Given the description of an element on the screen output the (x, y) to click on. 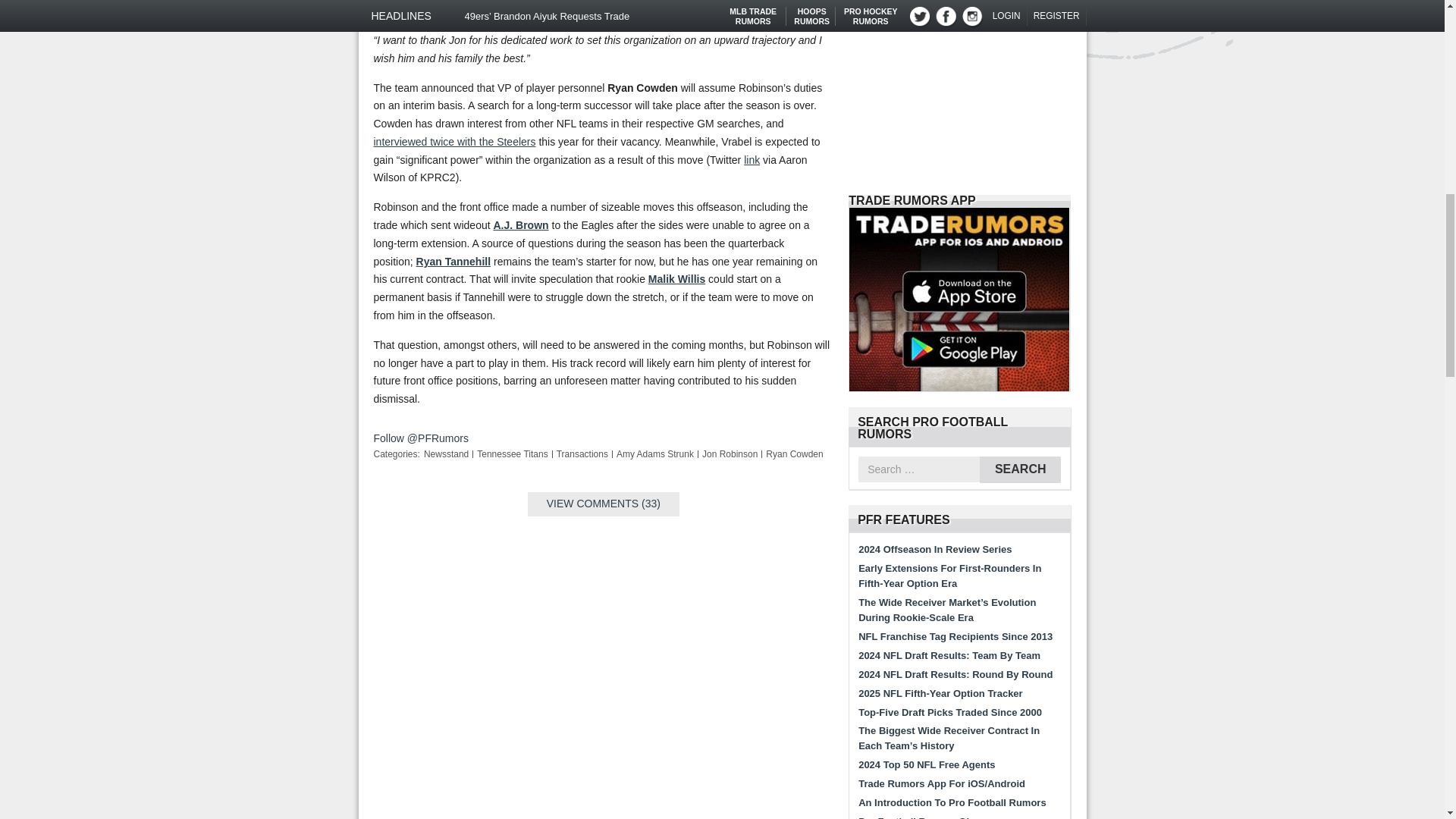
View all posts in Newsstand (445, 453)
Search (1020, 469)
View all posts in Ryan Cowden (793, 453)
View all posts in Amy Adams Strunk (654, 453)
View all posts in Jon Robinson (729, 453)
View all posts in Tennessee Titans (512, 453)
View all posts in Transactions (582, 453)
Search for: (919, 469)
